Given the description of an element on the screen output the (x, y) to click on. 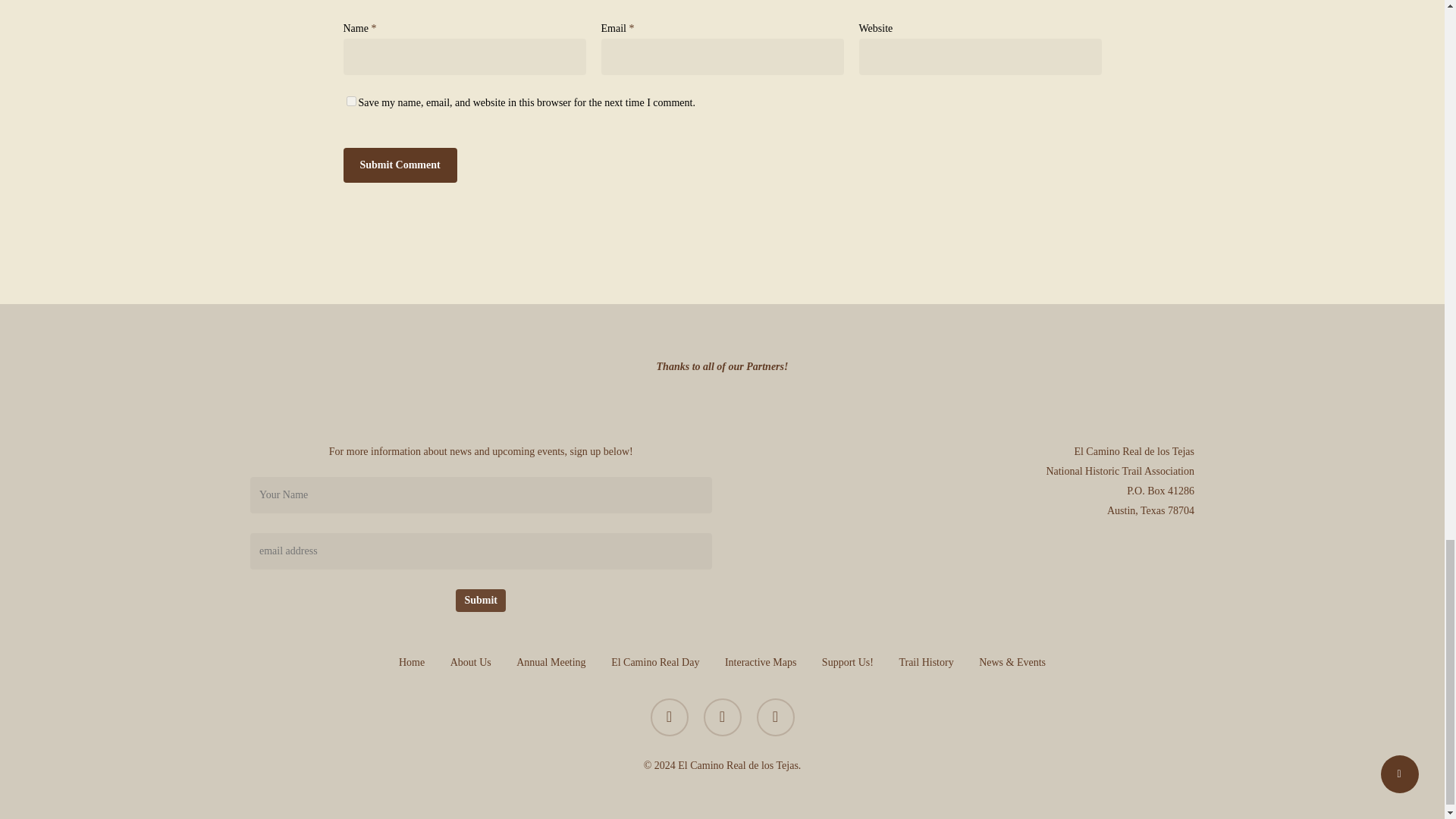
Submit (480, 599)
Submit Comment (399, 165)
yes (350, 101)
